Given the description of an element on the screen output the (x, y) to click on. 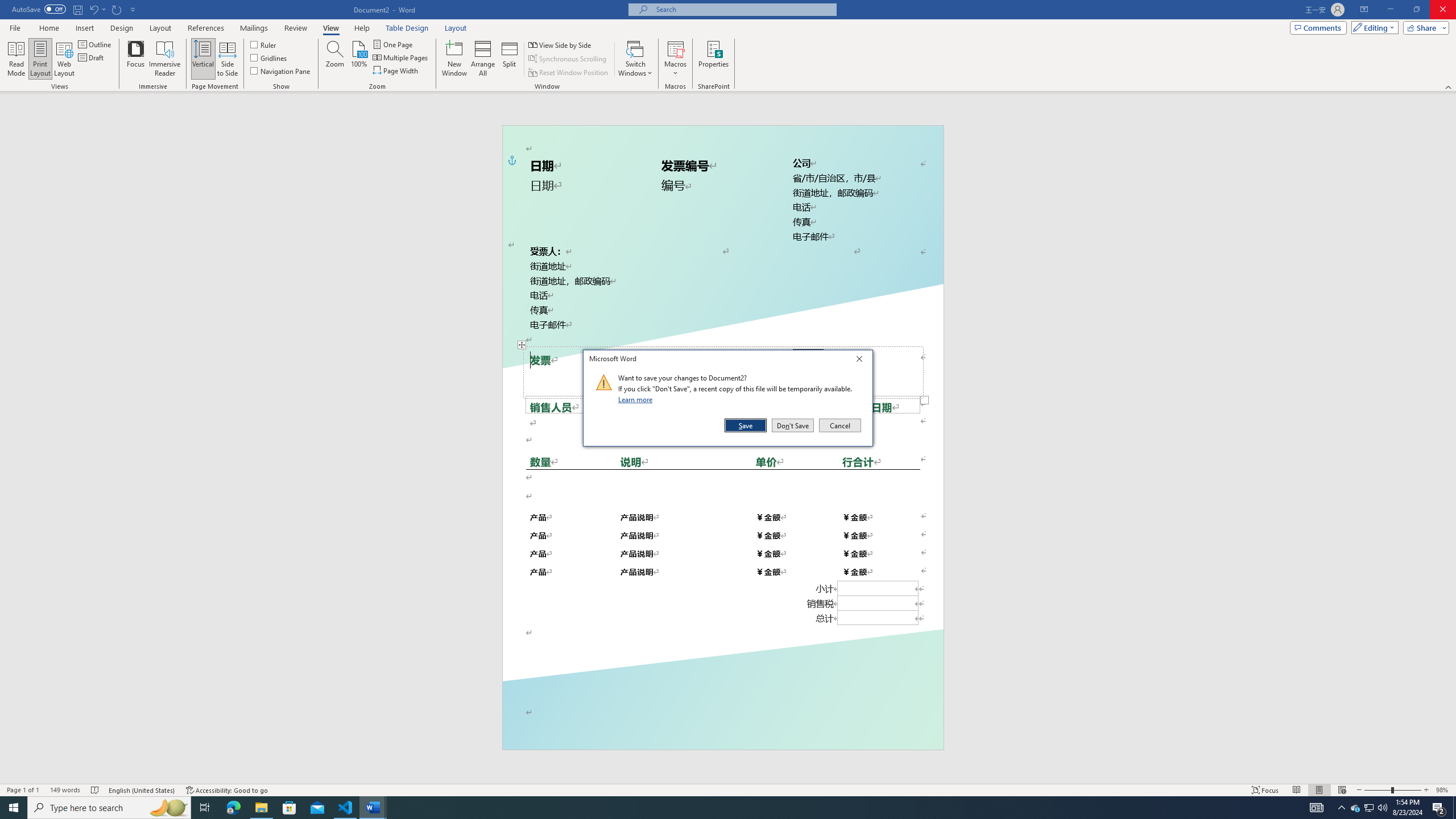
Cancel (839, 425)
Focus (135, 58)
Zoom 98% (1443, 790)
Properties (713, 58)
Zoom... (334, 58)
Vertical (202, 58)
Gridlines (269, 56)
